Given the description of an element on the screen output the (x, y) to click on. 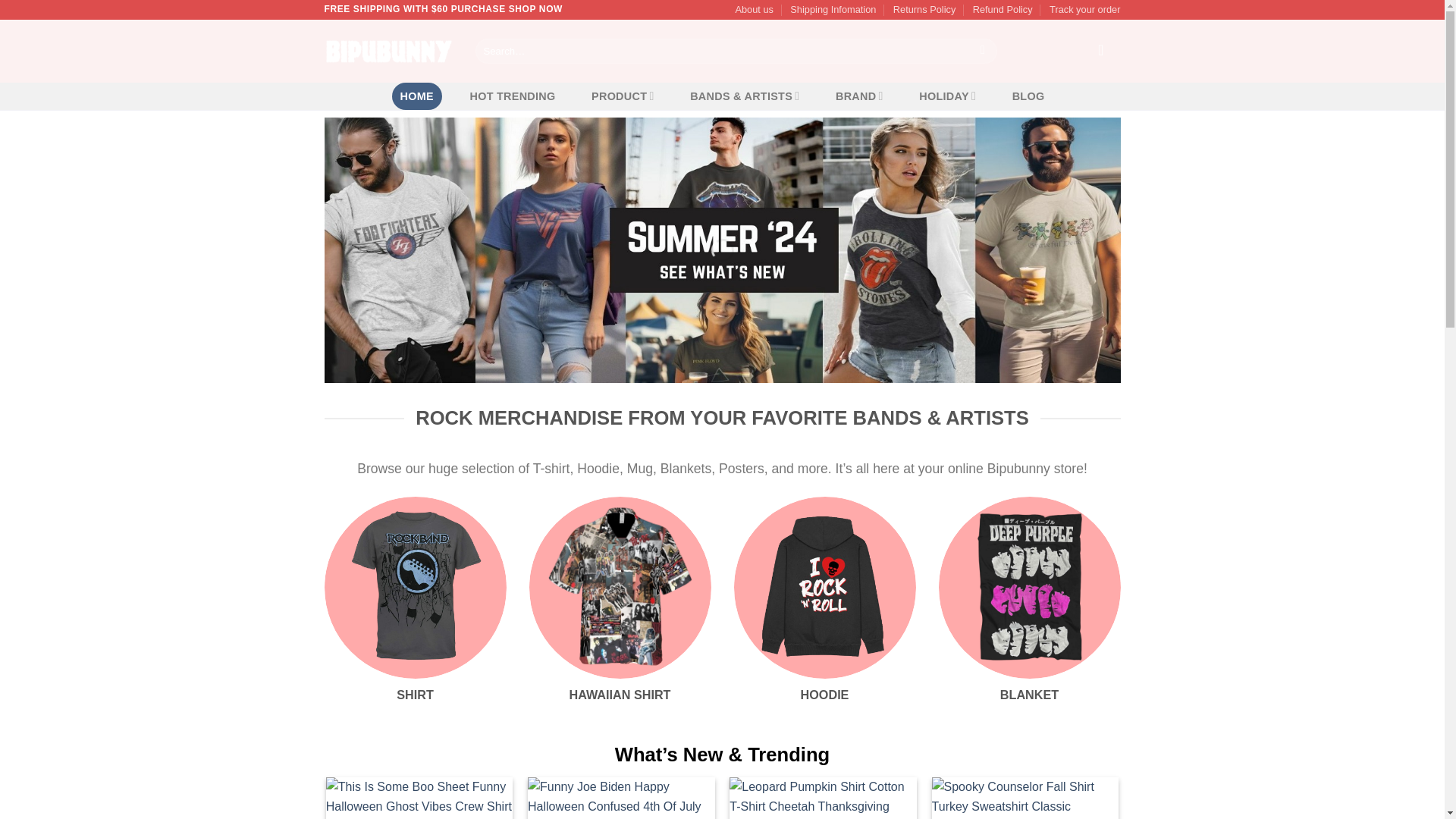
HOME (416, 95)
Shipping Infomation (833, 9)
BLOG (1028, 95)
Cart (1104, 49)
Refund Policy (1002, 9)
HOT TRENDING (512, 95)
About us (754, 9)
HOLIDAY (947, 95)
Returns Policy (924, 9)
Spooky Counselor Fall Shirt Turkey Sweatshirt Classic (1025, 796)
Search (983, 51)
BRAND (859, 95)
PRODUCT (622, 95)
